Given the description of an element on the screen output the (x, y) to click on. 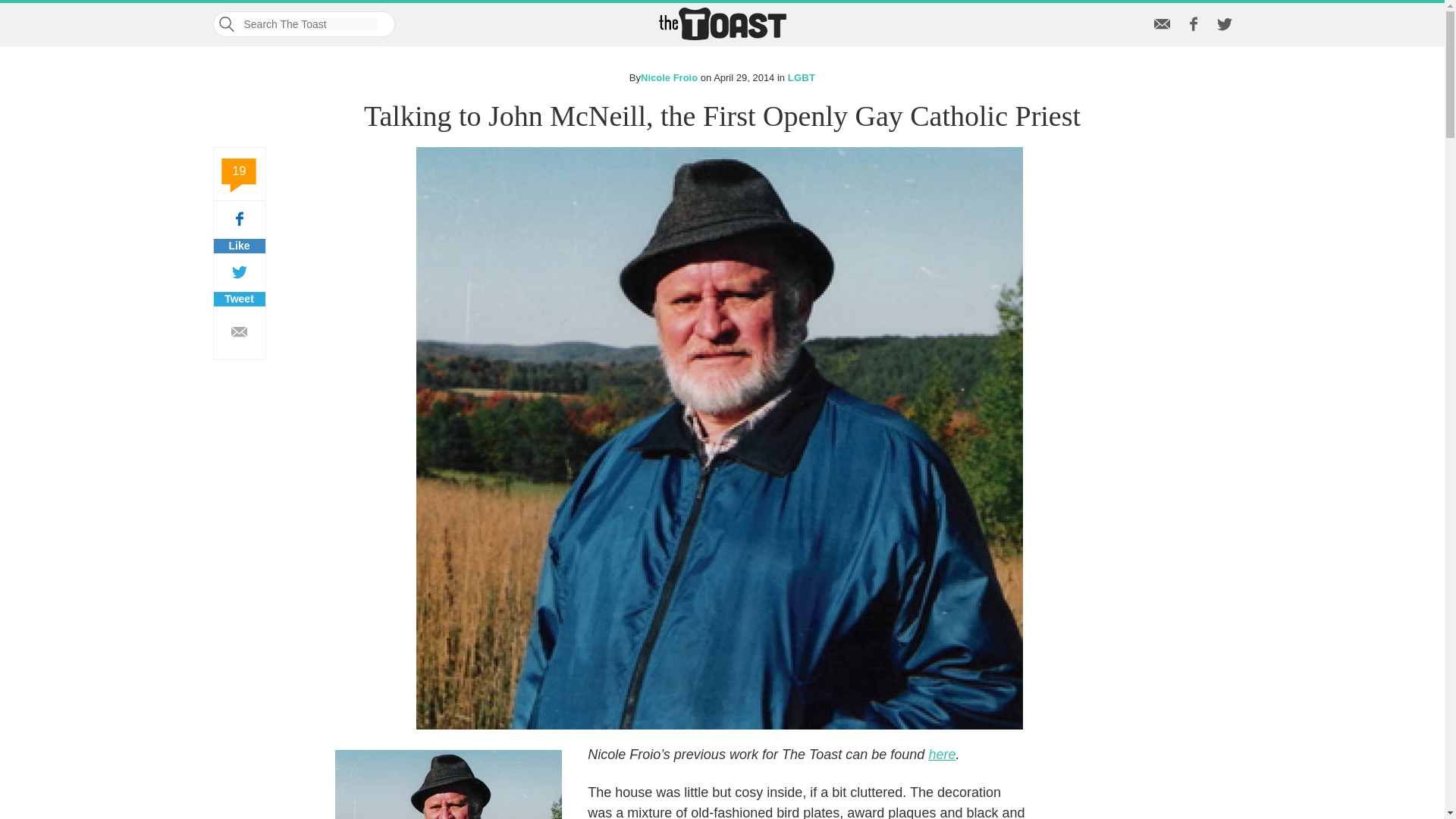
19 (239, 173)
email Created with Sketch. (239, 333)
LGBT (801, 77)
here (239, 279)
twitter Created with Sketch. (941, 754)
email Created with Sketch. (1223, 23)
email Created with Sketch. (239, 331)
Nicole Froio (1161, 26)
twitter Created with Sketch. (668, 77)
email Created with Sketch. (239, 226)
twitter Created with Sketch. (1224, 26)
